Given the description of an element on the screen output the (x, y) to click on. 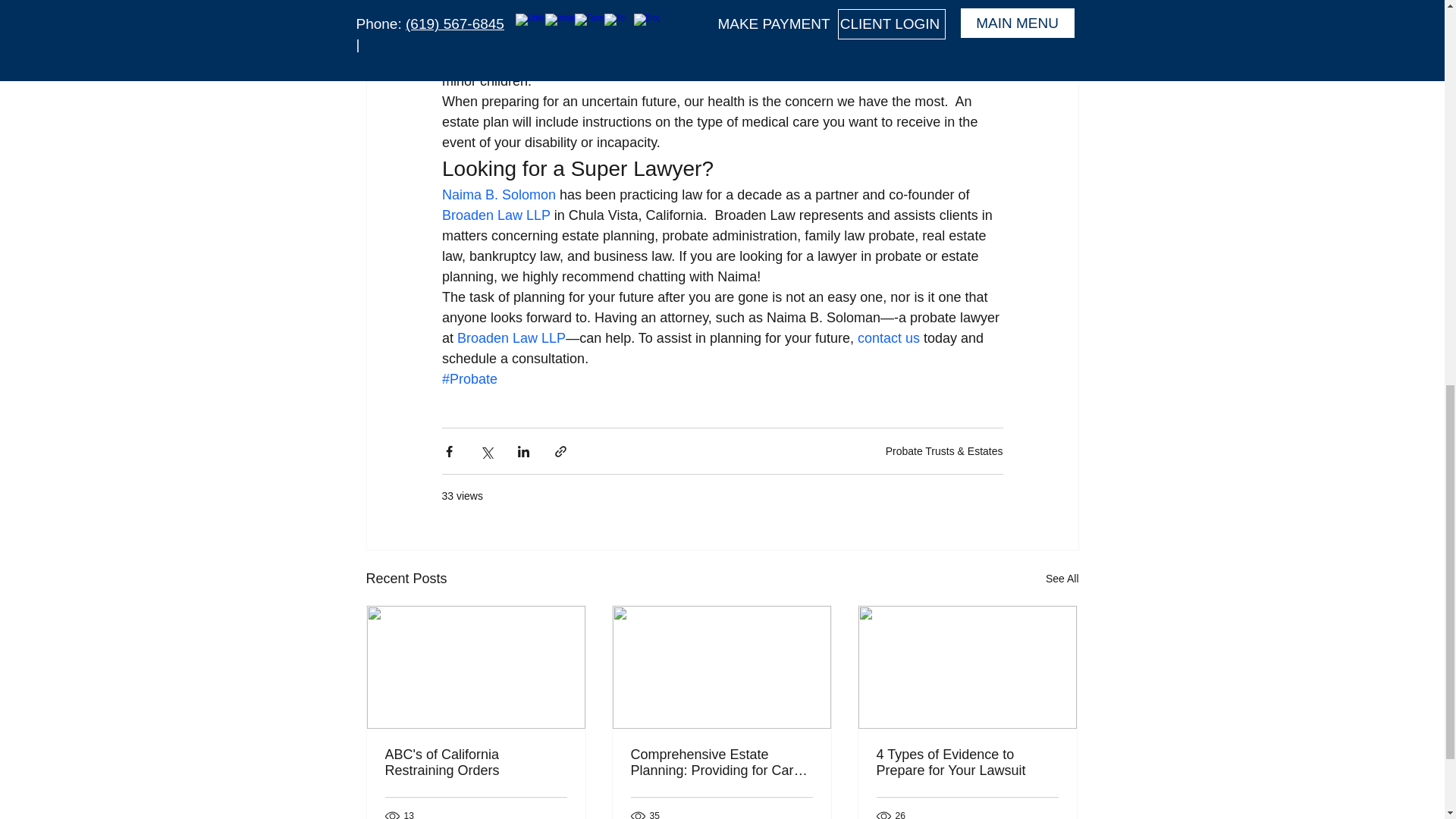
ABC's of California Restraining Orders (476, 762)
Broaden Law LLP (495, 215)
contact us (888, 337)
See All (1061, 578)
Naima B. Solomon (497, 194)
Broaden Law LLP (511, 337)
